Given the description of an element on the screen output the (x, y) to click on. 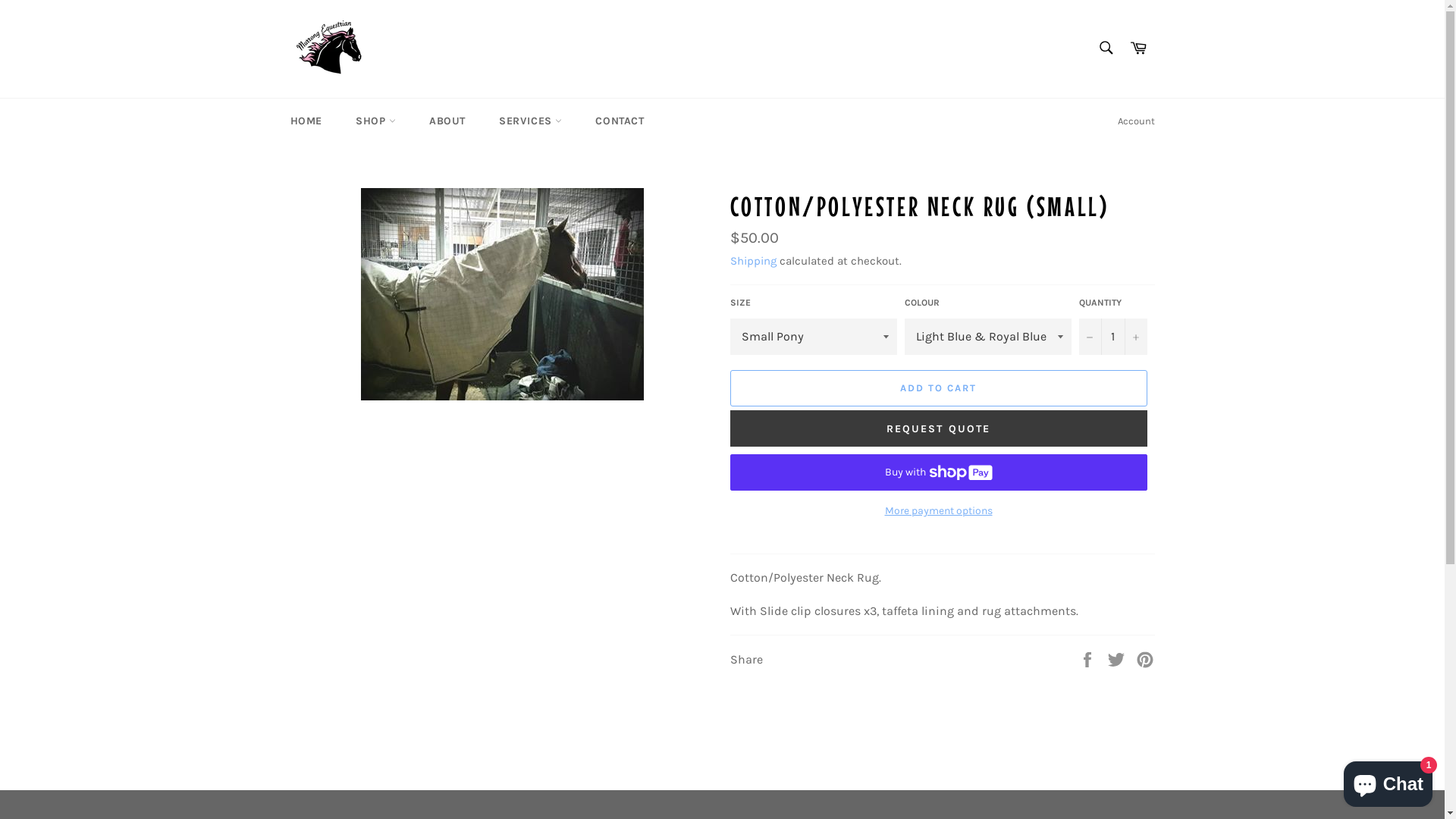
Account Element type: text (1136, 121)
More payment options Element type: text (937, 510)
SERVICES Element type: text (530, 120)
ADD TO CART Element type: text (937, 388)
Pin on Pinterest Element type: text (1144, 658)
Share on Facebook Element type: text (1088, 658)
Search Element type: text (1105, 47)
SHOP Element type: text (375, 120)
REQUEST QUOTE Element type: text (937, 428)
Shipping Element type: text (752, 260)
+ Element type: text (1134, 336)
HOME Element type: text (305, 120)
Cart Element type: text (1138, 48)
Shopify online store chat Element type: hover (1388, 780)
Tweet on Twitter Element type: text (1117, 658)
CONTACT Element type: text (619, 120)
ABOUT Element type: text (447, 120)
